Given the description of an element on the screen output the (x, y) to click on. 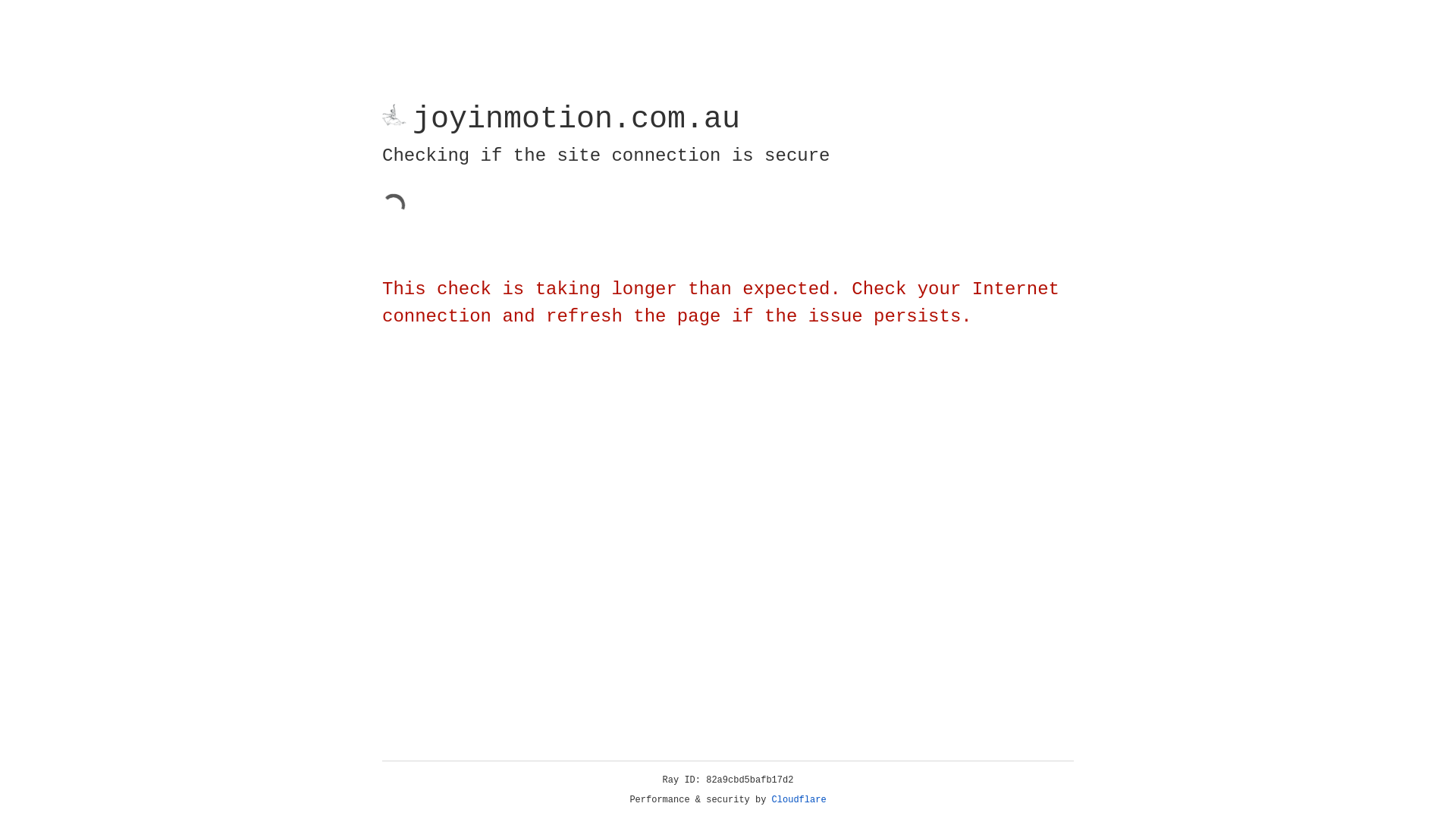
Cloudflare Element type: text (798, 799)
